Given the description of an element on the screen output the (x, y) to click on. 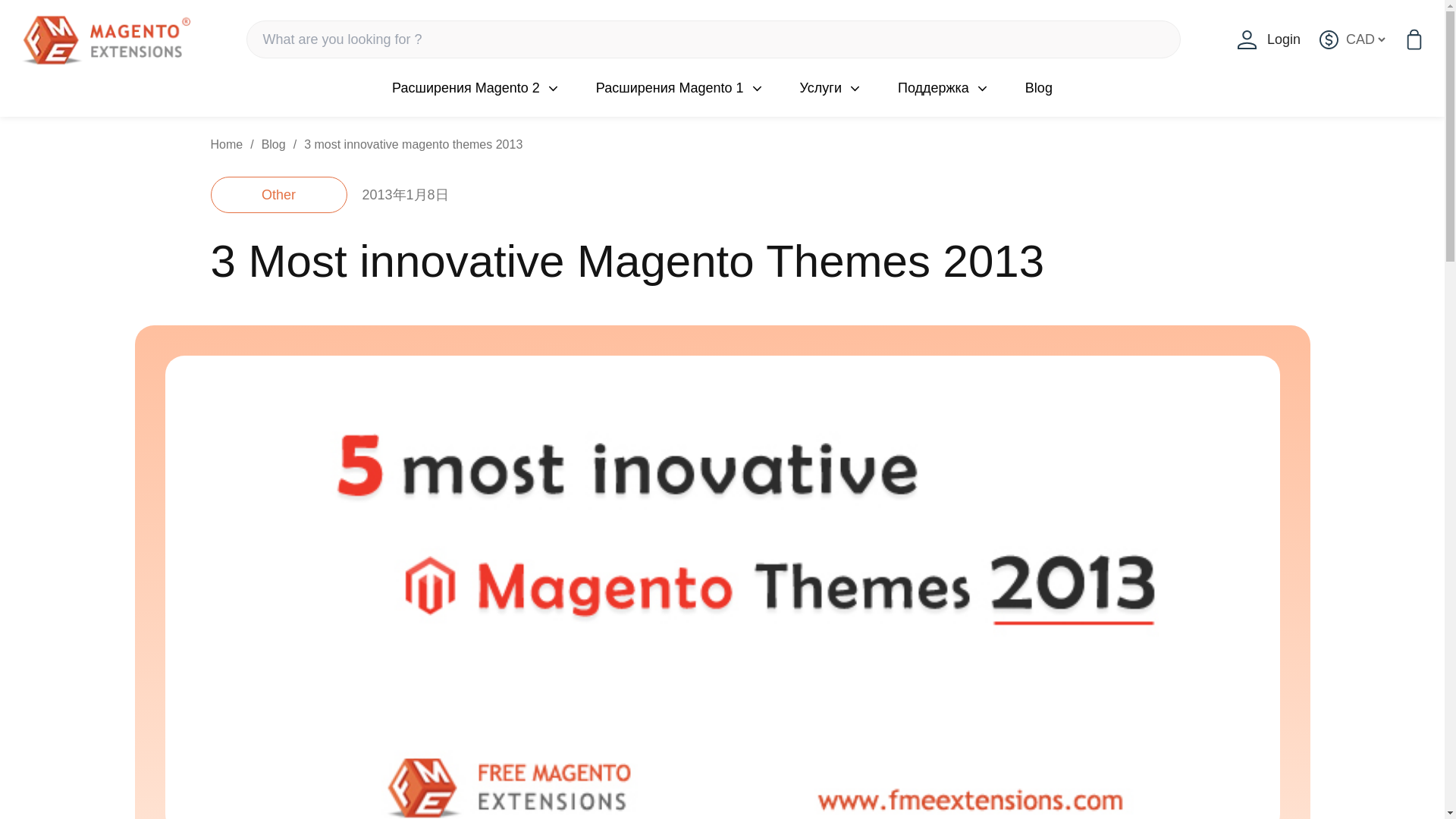
Blog (273, 144)
3 most innovative magento themes 2013 (413, 144)
Home (227, 144)
Other (279, 194)
Login (1268, 39)
Blog (1038, 87)
